Given the description of an element on the screen output the (x, y) to click on. 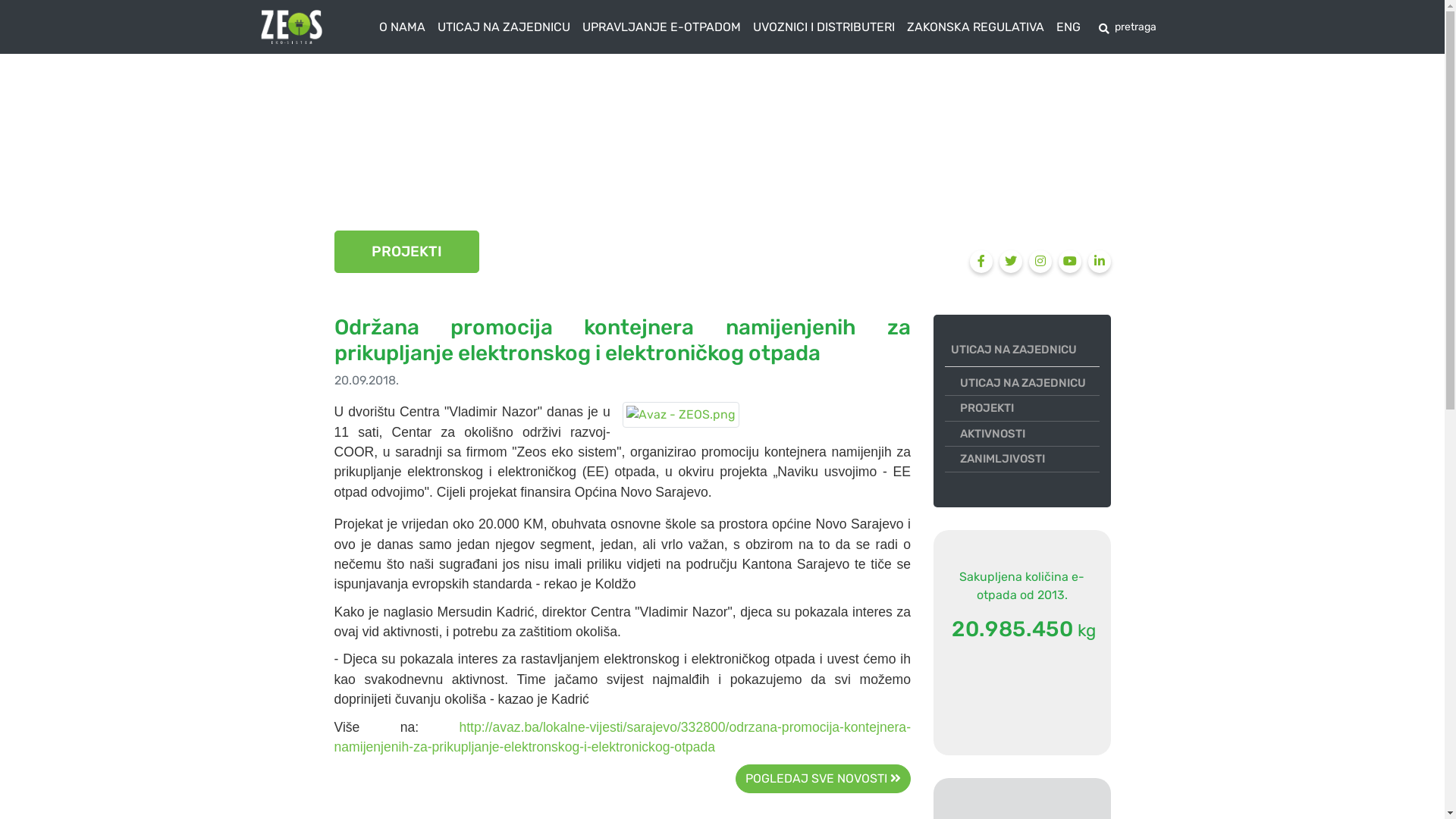
UTICAJ NA ZAJEDNICU Element type: text (502, 27)
O NAMA Element type: text (402, 27)
ZAKONSKA REGULATIVA Element type: text (975, 27)
UPRAVLJANJE E-OTPADOM Element type: text (661, 27)
UTICAJ NA ZAJEDNICU Element type: text (1024, 349)
UVOZNICI I DISTRIBUTERI Element type: text (823, 27)
ZANIMLJIVOSTI Element type: text (1029, 458)
AKTIVNOSTI Element type: text (1029, 433)
PROJEKTI Element type: text (1029, 407)
ENG Element type: text (1067, 27)
POGLEDAJ SVE NOVOSTI Element type: text (822, 778)
UTICAJ NA ZAJEDNICU Element type: text (1029, 382)
